Given the description of an element on the screen output the (x, y) to click on. 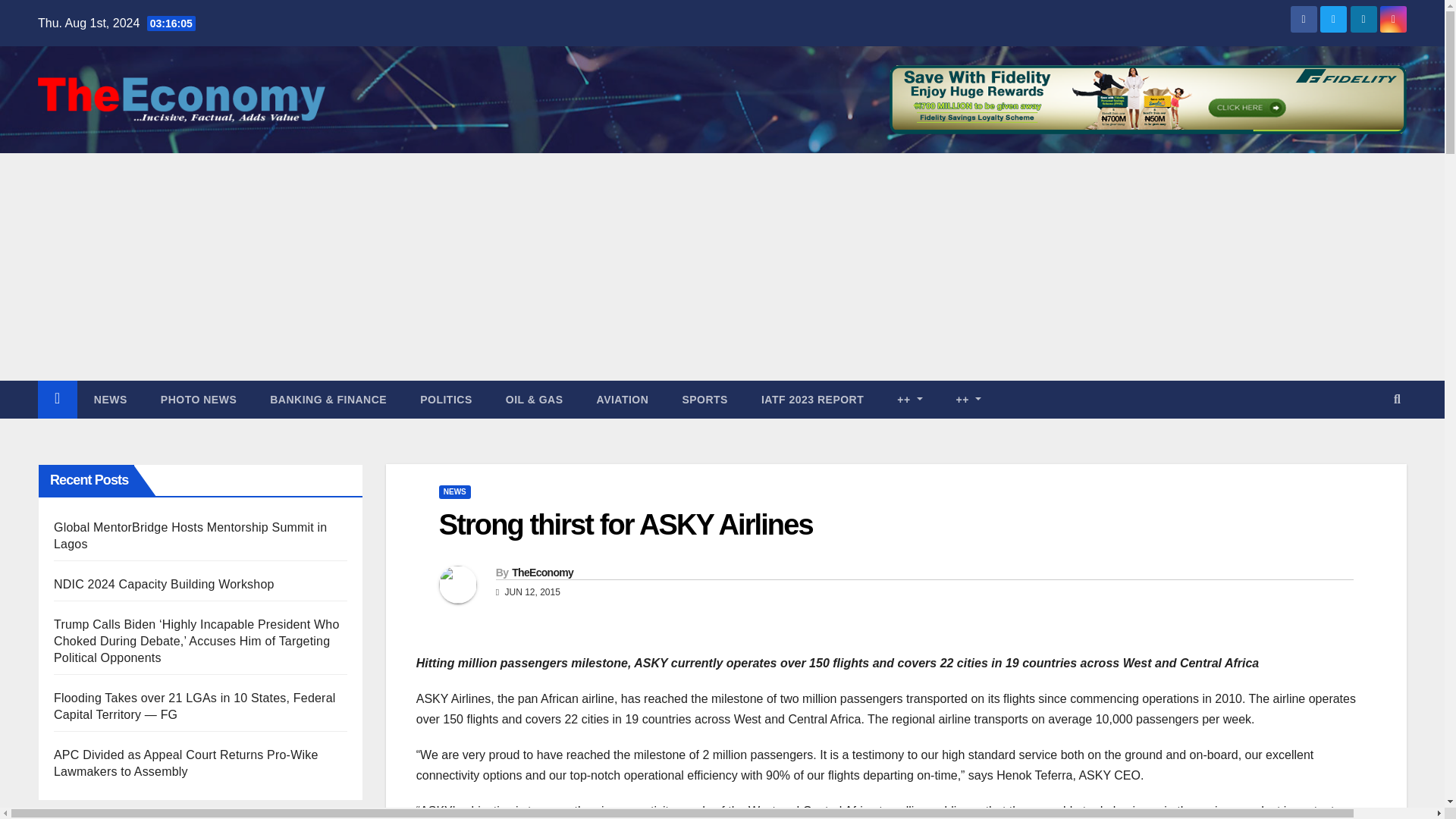
POLITICS (446, 399)
Sports (704, 399)
Aviation (622, 399)
SPORTS (704, 399)
IATF 2023 REPORT (812, 399)
NEWS (110, 399)
Politics (446, 399)
IATF 2023 REPORT (812, 399)
AVIATION (622, 399)
News (110, 399)
PHOTO NEWS (198, 399)
Photo News (198, 399)
